Given the description of an element on the screen output the (x, y) to click on. 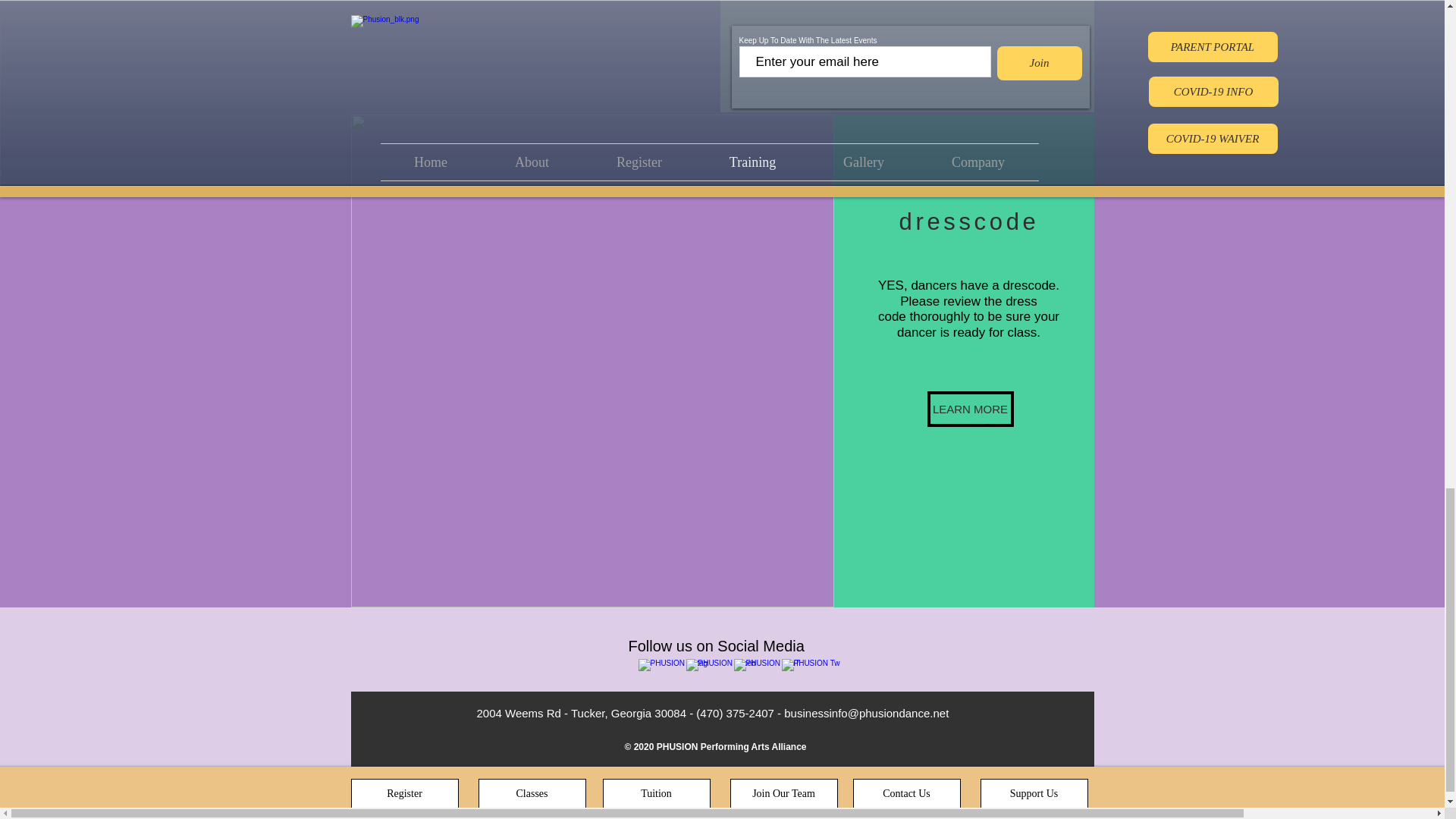
Contact Us (905, 793)
Join Our Team (783, 793)
Support Us (1033, 793)
Register (404, 793)
LEARN MORE (969, 408)
Classes (531, 793)
Tuition (656, 793)
